Given the description of an element on the screen output the (x, y) to click on. 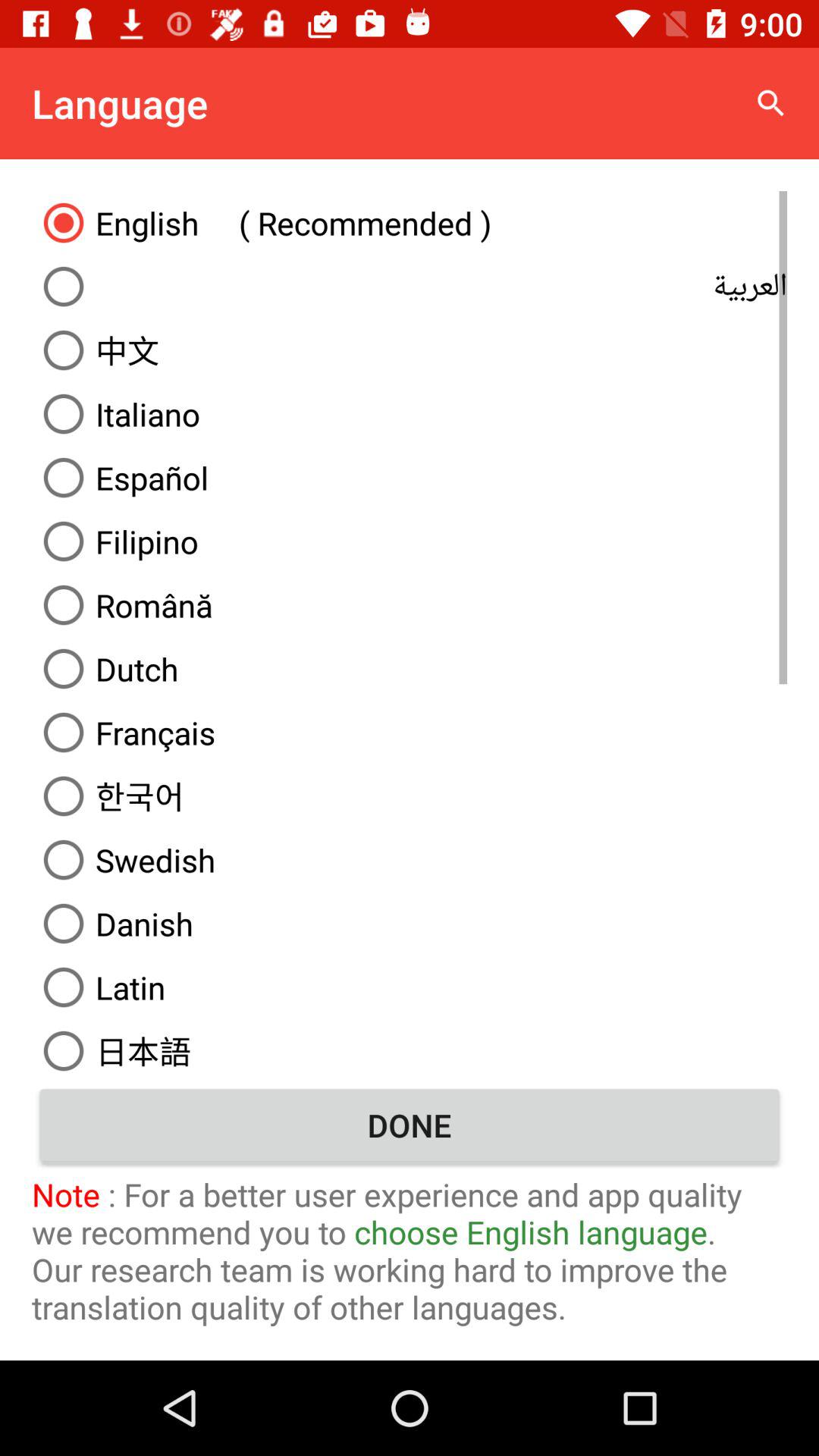
flip to the latin icon (409, 987)
